Given the description of an element on the screen output the (x, y) to click on. 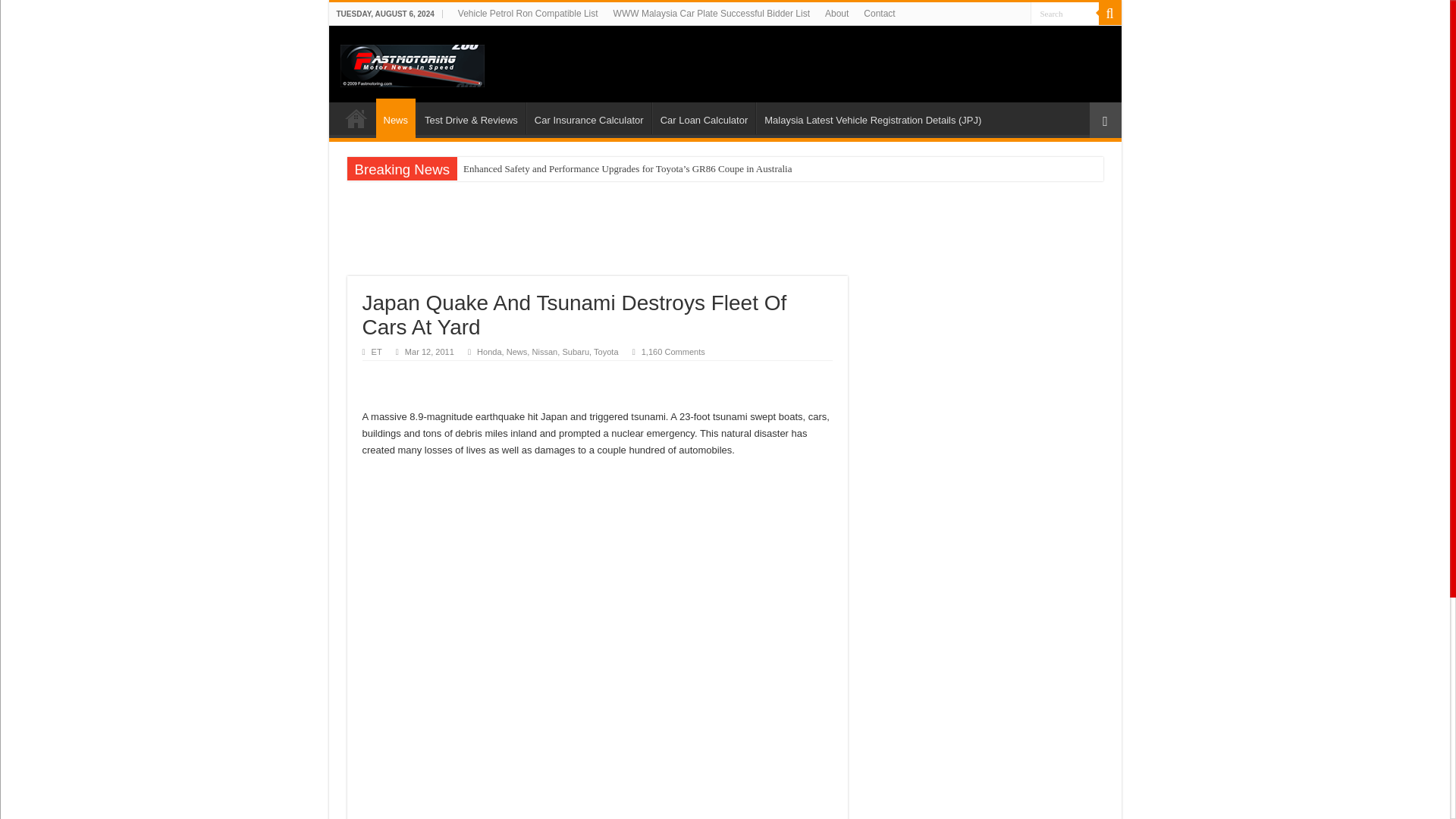
WWW Malaysia Car Plate Successful Bidder List (710, 13)
Search (1063, 13)
Subaru (575, 351)
Car Loan Calculator (703, 118)
Vehicle Petrol Ron Compatible List (527, 13)
News (516, 351)
FastMotoring (411, 63)
Toyota (606, 351)
Search (1109, 13)
Car Insurance Calculator (587, 118)
